Given the description of an element on the screen output the (x, y) to click on. 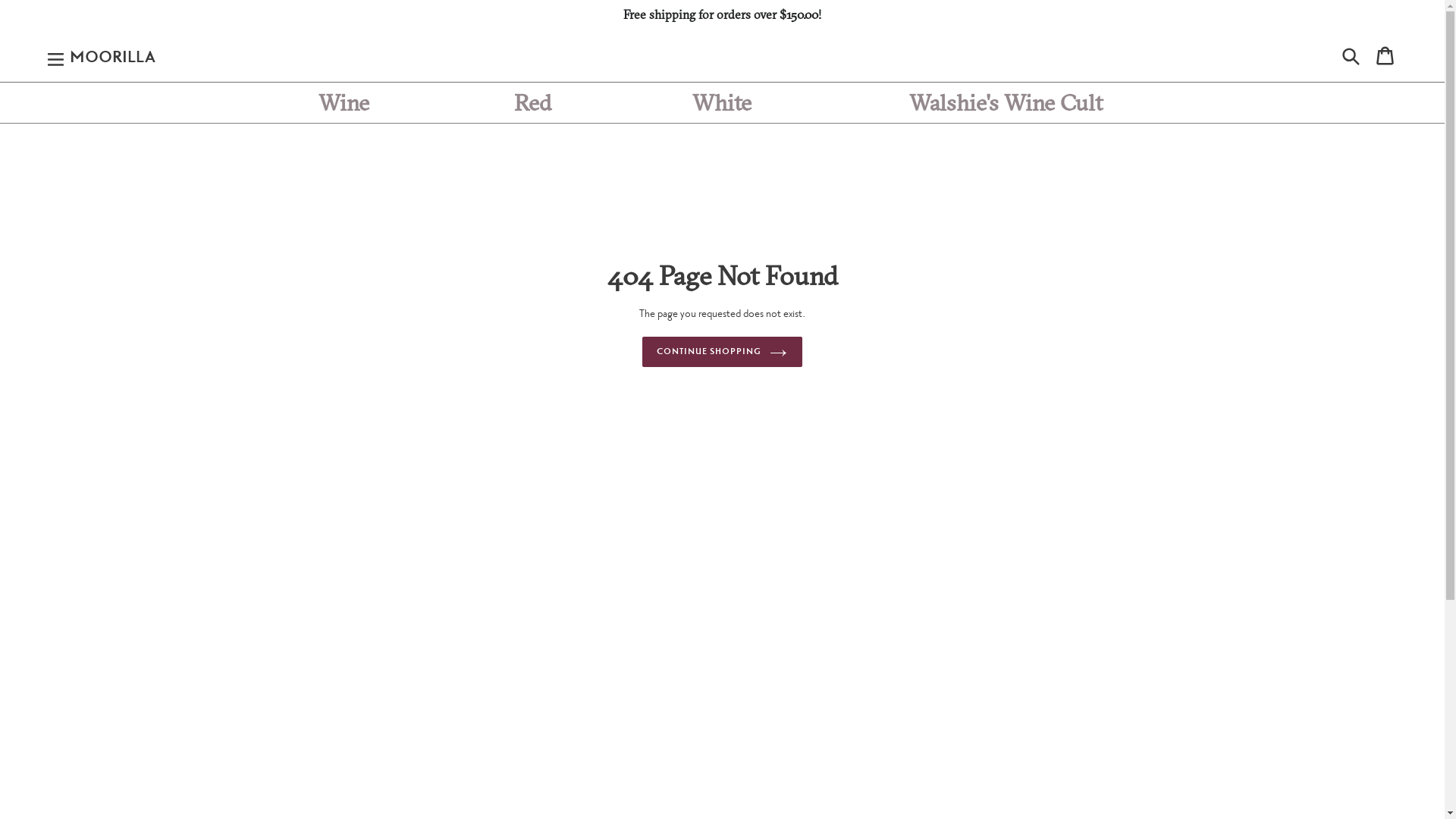
CONTINUE SHOPPING Element type: text (722, 352)
Red Element type: text (532, 102)
Walshie's Wine Cult Element type: text (1005, 102)
Wine Element type: text (343, 102)
Search Element type: text (1351, 55)
White Element type: text (722, 102)
Cart Element type: text (1384, 55)
MOORILLA Element type: text (112, 55)
